Given the description of an element on the screen output the (x, y) to click on. 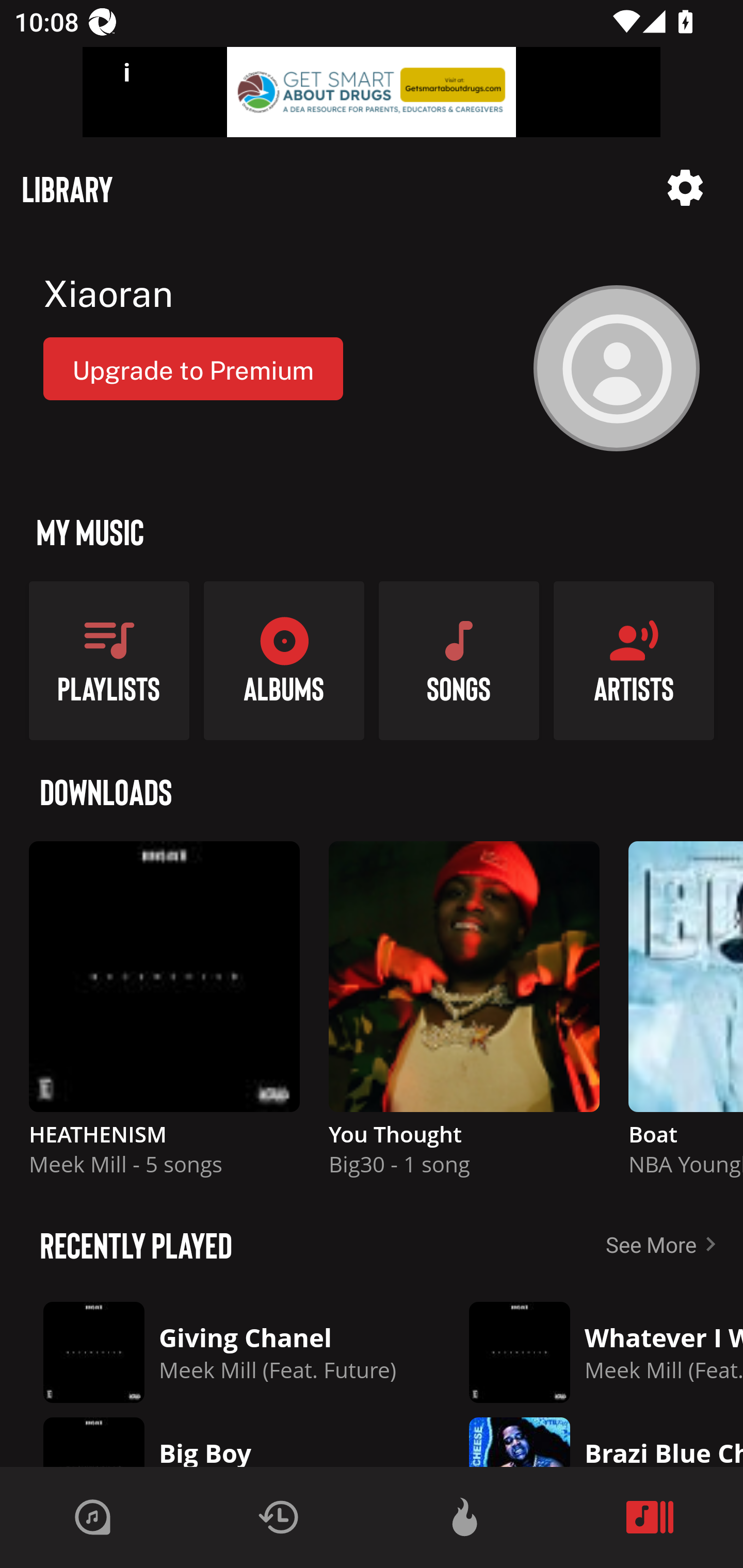
Description (684, 188)
Upgrade to Premium (193, 368)
Playlists (108, 660)
Albums (283, 660)
Songs (458, 660)
Artists (633, 660)
Description HEATHENISM Meek Mill - 5 songs (164, 1017)
Description You Thought Big30 - 1 song (463, 1017)
See More (664, 1244)
Description Giving Chanel Meek Mill (Feat. Future) (219, 1352)
Description Big Boy (219, 1438)
Description Brazi Blue Cheese (591, 1438)
